Given the description of an element on the screen output the (x, y) to click on. 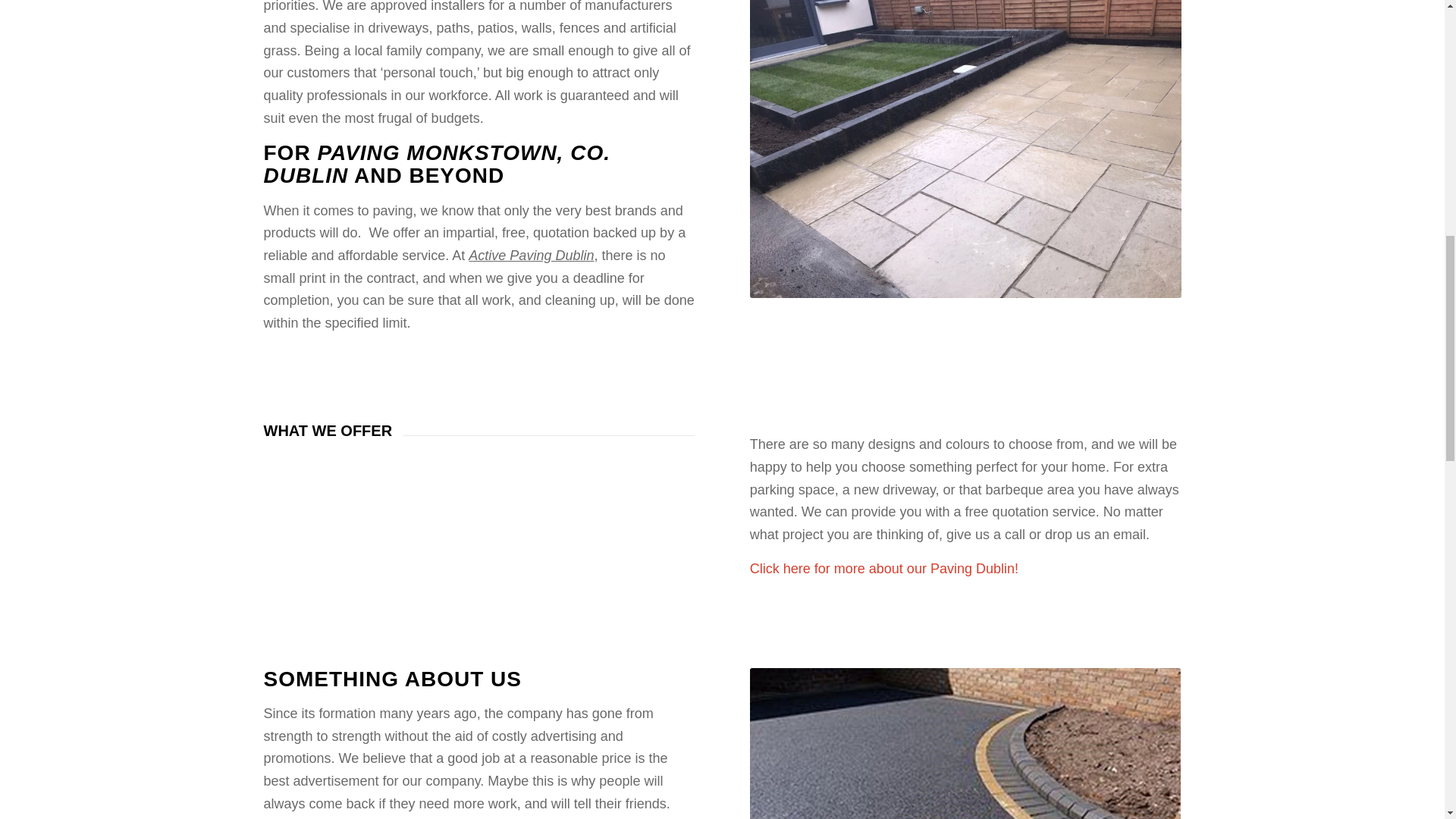
Click here for more about our Paving Dublin! (883, 568)
Active Paving Dublin (964, 743)
Active Paving Dublin (964, 149)
